Given the description of an element on the screen output the (x, y) to click on. 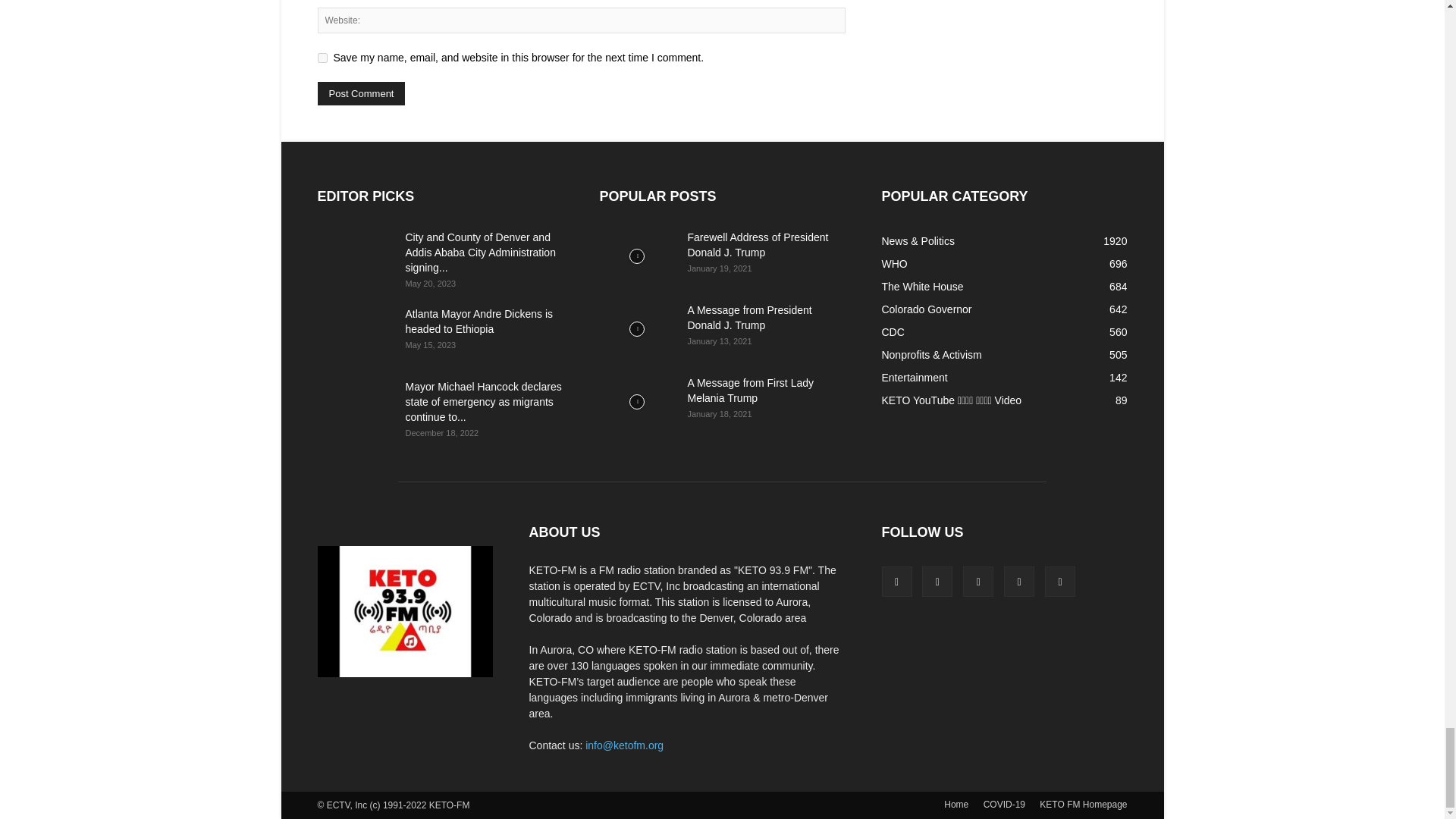
Post Comment (360, 93)
yes (321, 58)
